Given the description of an element on the screen output the (x, y) to click on. 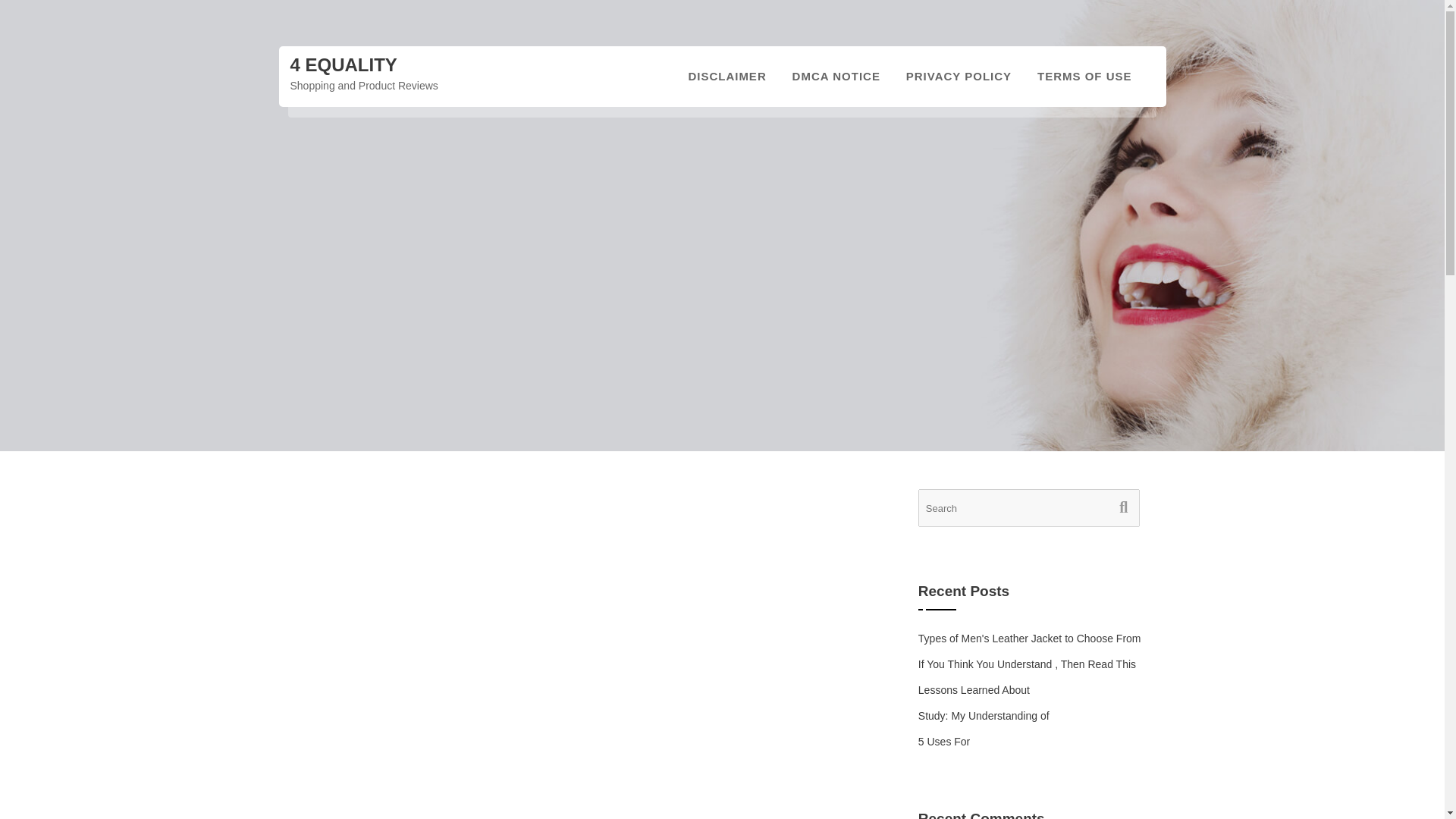
TERMS OF USE (1084, 76)
5 Uses For (943, 741)
If You Think You Understand , Then Read This (1026, 664)
4 EQUALITY (342, 64)
4 Equality (342, 64)
Lessons Learned About (973, 689)
Study: My Understanding of (983, 715)
PRIVACY POLICY (959, 76)
DISCLAIMER (727, 76)
Types of Men's Leather Jacket to Choose From (1029, 638)
DMCA NOTICE (835, 76)
